Given the description of an element on the screen output the (x, y) to click on. 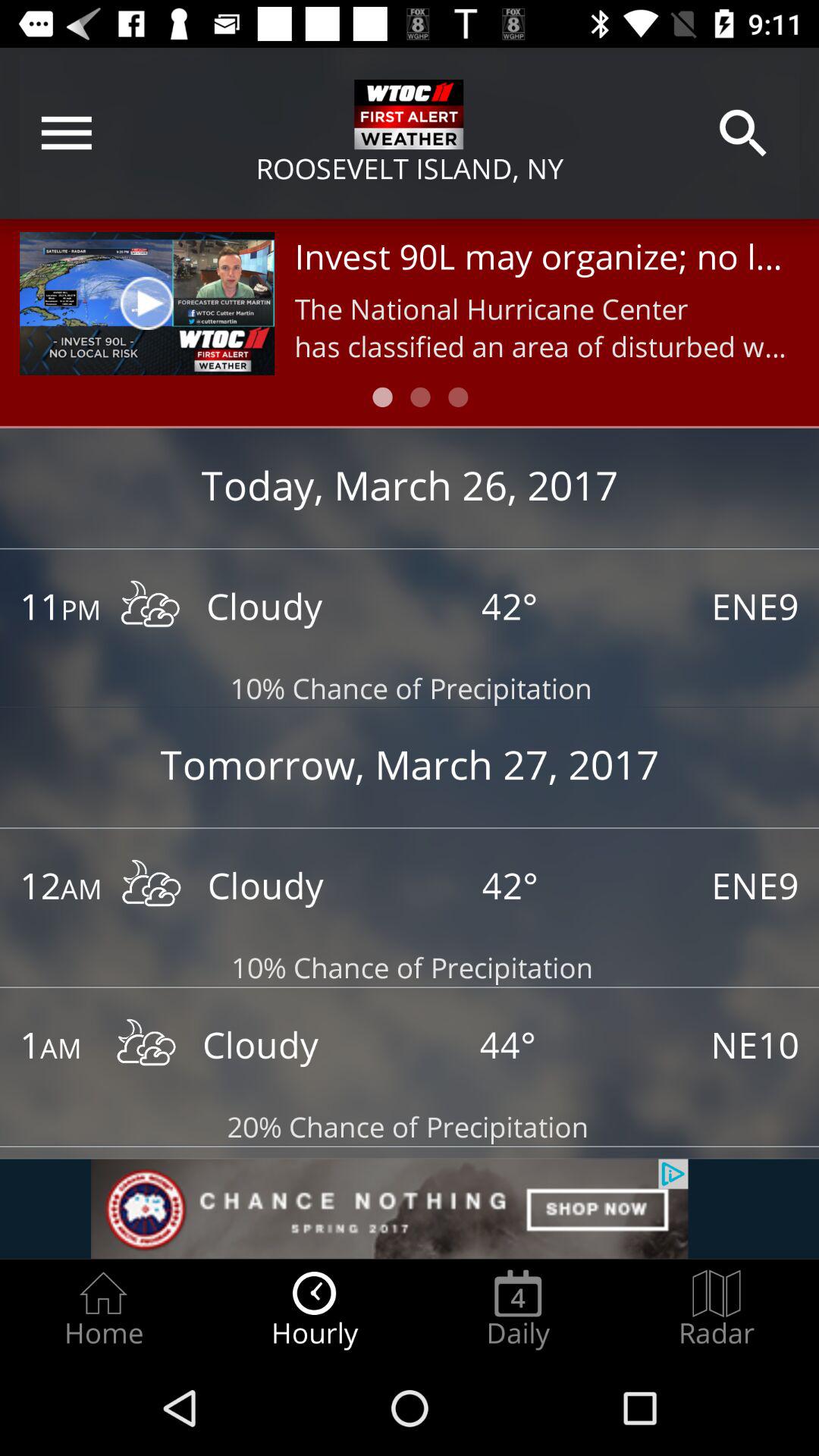
press radio button to the right of hourly (518, 1309)
